Given the description of an element on the screen output the (x, y) to click on. 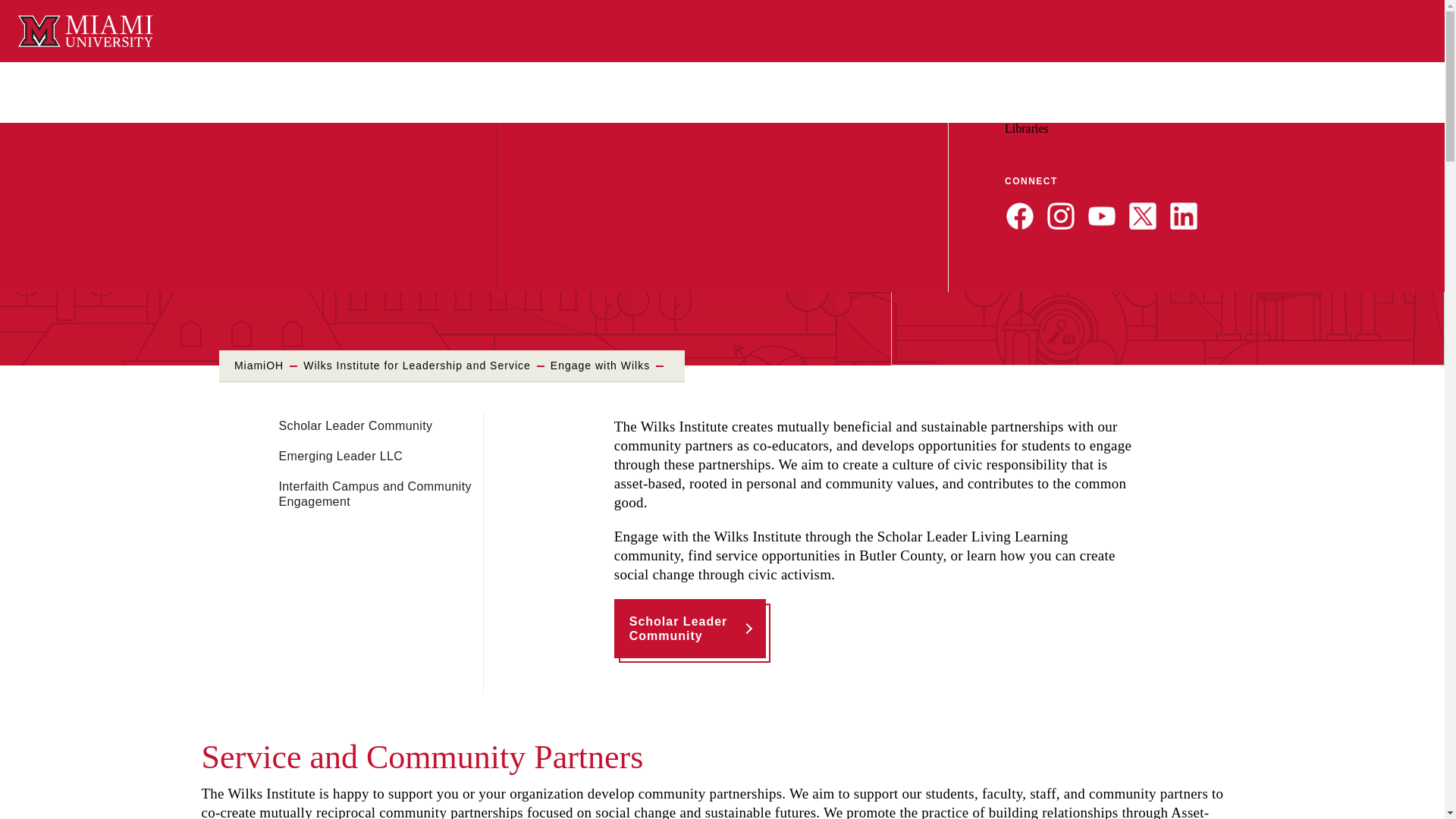
Libraries (1026, 128)
myMiami (1034, 114)
Scholar Leader Community (689, 628)
MiamiOH (258, 365)
Workday (1090, 114)
News and Events (1157, 114)
Engage with Wilks (599, 365)
Interfaith Campus and Community Engagement (375, 494)
Pay My Bill (1232, 114)
Wilks Institute for Leadership and Service (416, 365)
Emerging Leader LLC (341, 456)
Scholar Leader Community (355, 425)
One Stop (1287, 114)
